Given the description of an element on the screen output the (x, y) to click on. 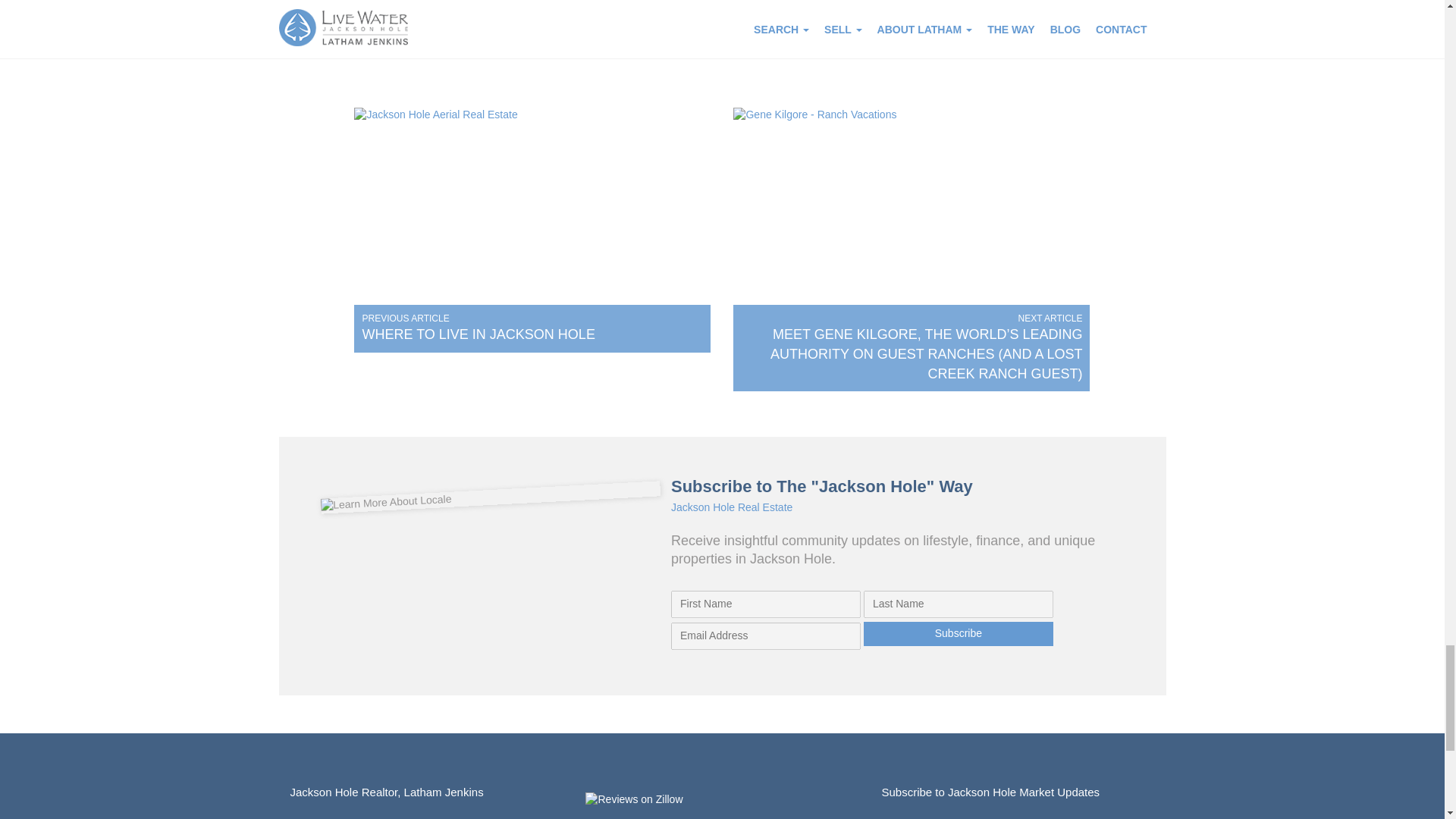
Subscribe (957, 633)
